Given the description of an element on the screen output the (x, y) to click on. 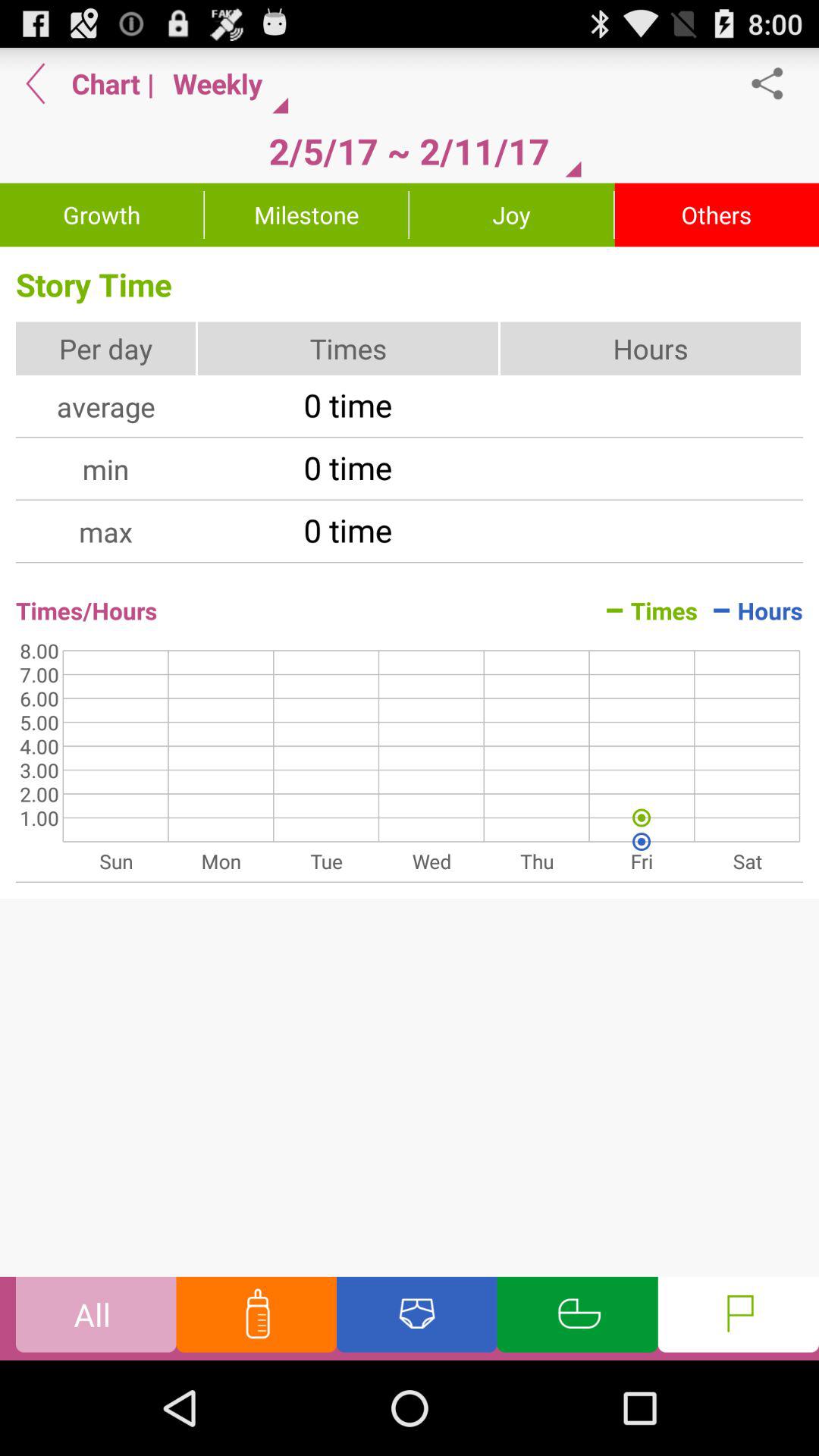
click button above 2 5 17 item (224, 83)
